Given the description of an element on the screen output the (x, y) to click on. 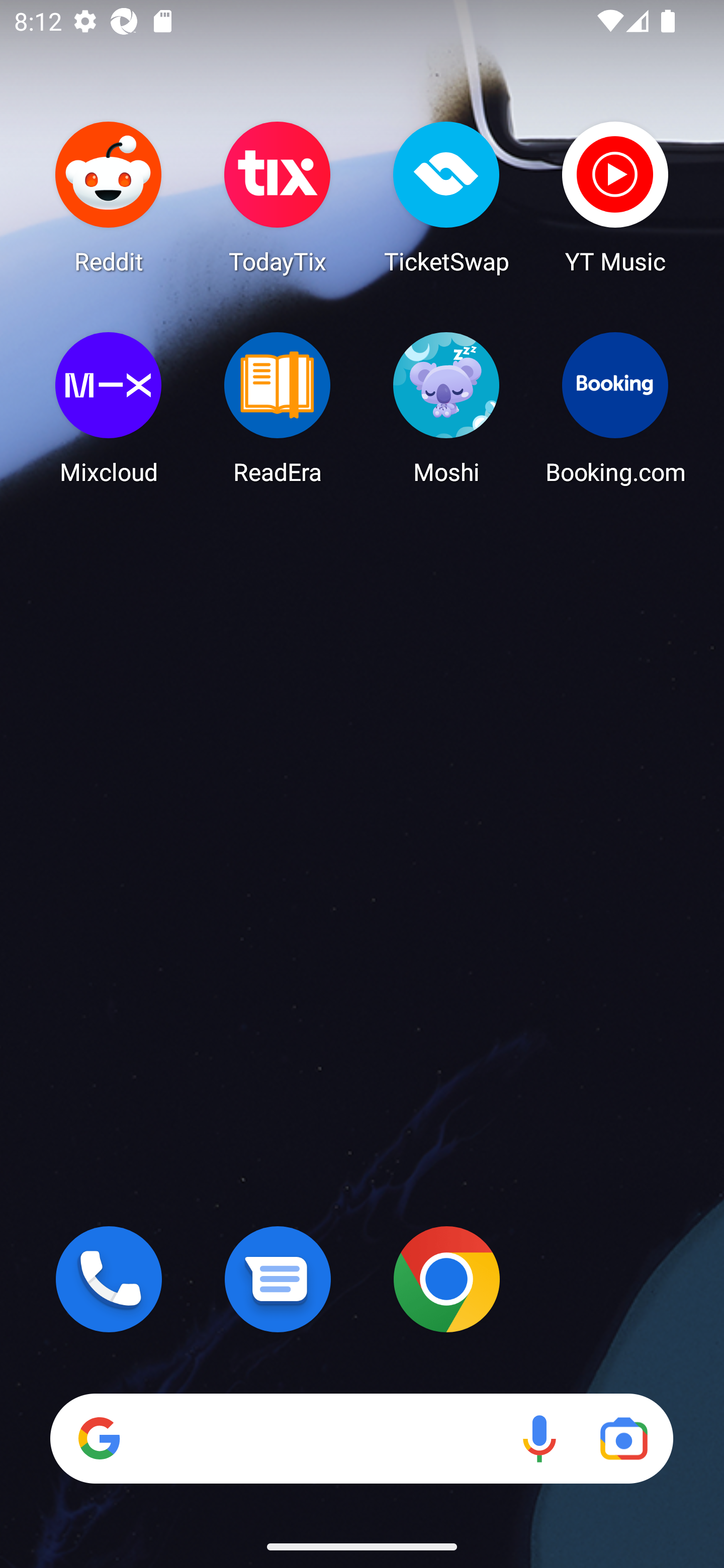
Reddit (108, 196)
TodayTix (277, 196)
TicketSwap (445, 196)
YT Music (615, 196)
Mixcloud (108, 407)
ReadEra (277, 407)
Moshi (445, 407)
Booking.com (615, 407)
Phone (108, 1279)
Messages (277, 1279)
Chrome (446, 1279)
Search Voice search Google Lens (361, 1438)
Voice search (539, 1438)
Google Lens (623, 1438)
